Given the description of an element on the screen output the (x, y) to click on. 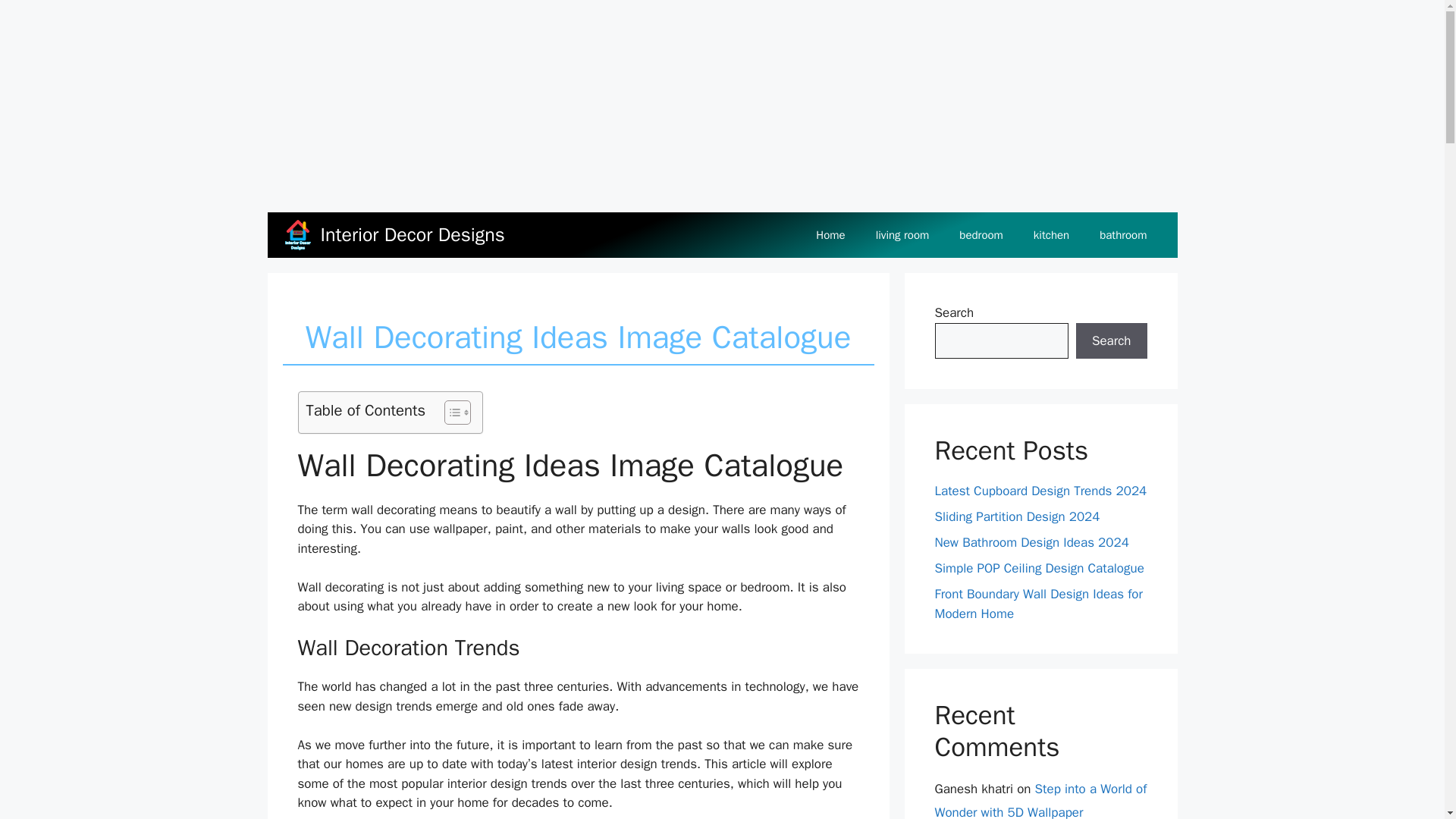
bathroom (1122, 234)
Home (830, 234)
Interior Decor Designs (411, 234)
living room (902, 234)
bedroom (980, 234)
kitchen (1050, 234)
